Given the description of an element on the screen output the (x, y) to click on. 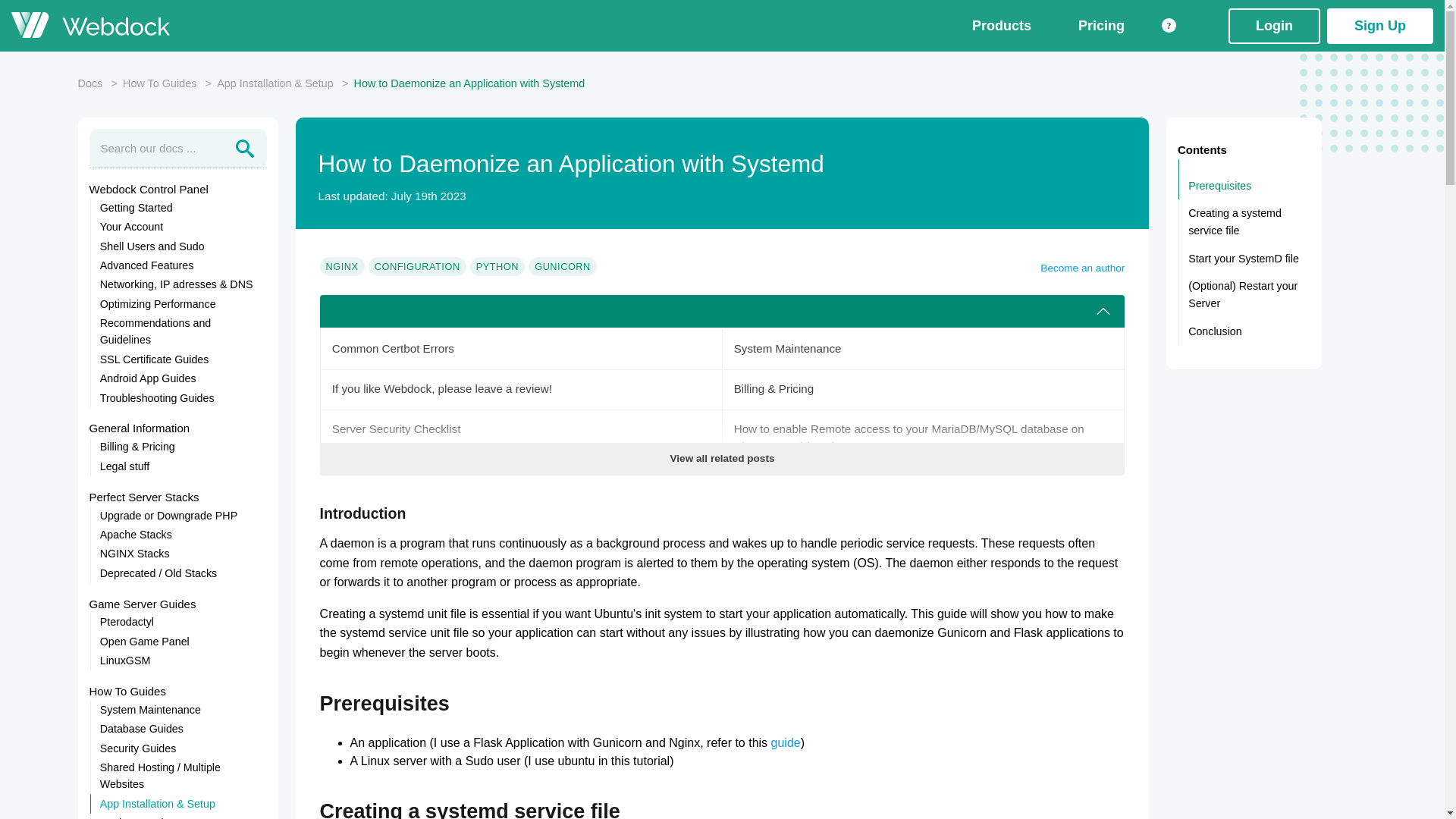
View our billing and pricing model. How we do refunds etc.  (923, 389)
SSL Certificate Guides (177, 358)
Sign Up (1379, 25)
Advanced Features (177, 265)
Recommendations and Guidelines (177, 331)
Optimizing Performance (177, 303)
Pricing (1101, 25)
